Given the description of an element on the screen output the (x, y) to click on. 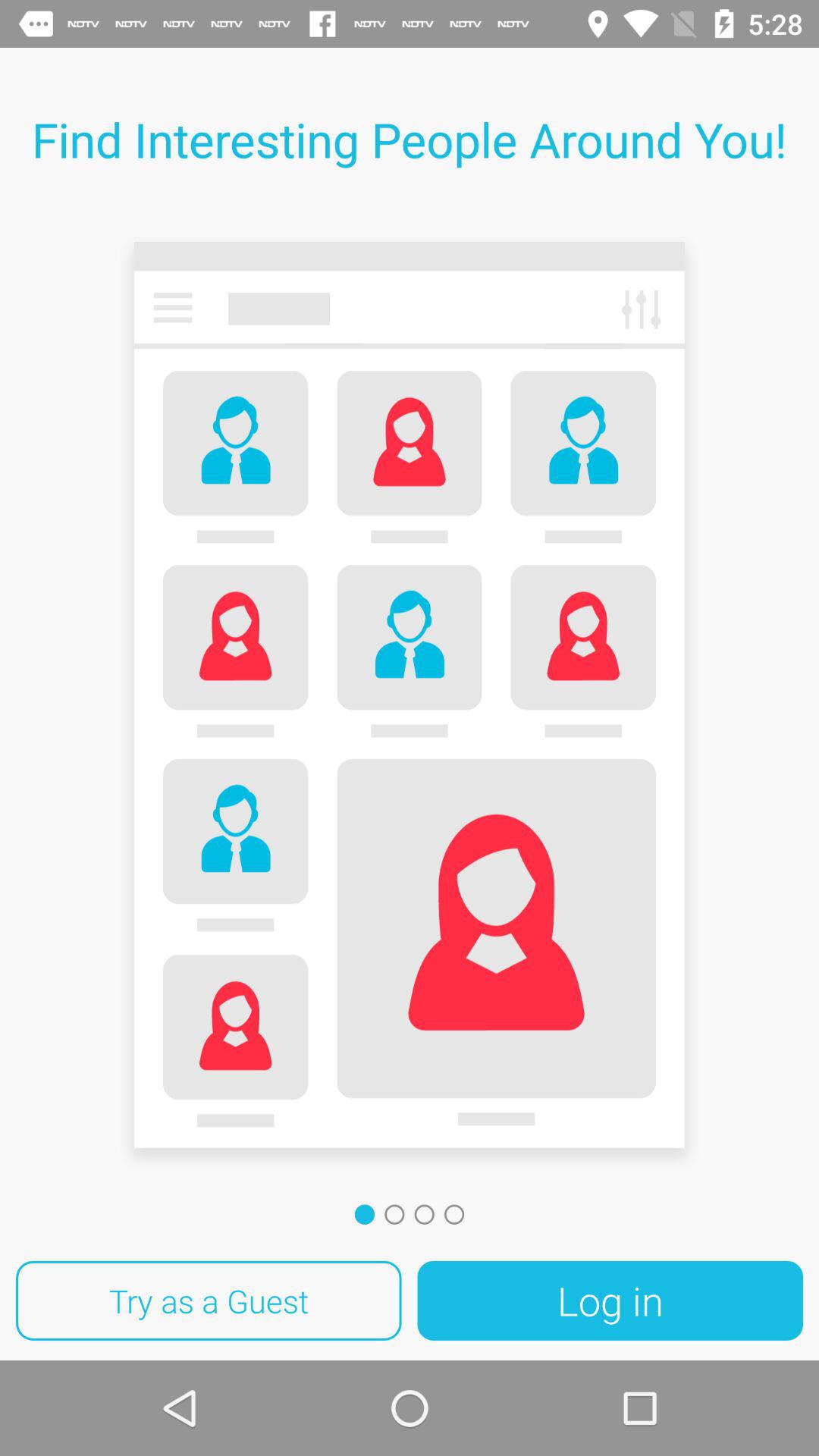
launch the icon to the left of the log in item (208, 1300)
